Given the description of an element on the screen output the (x, y) to click on. 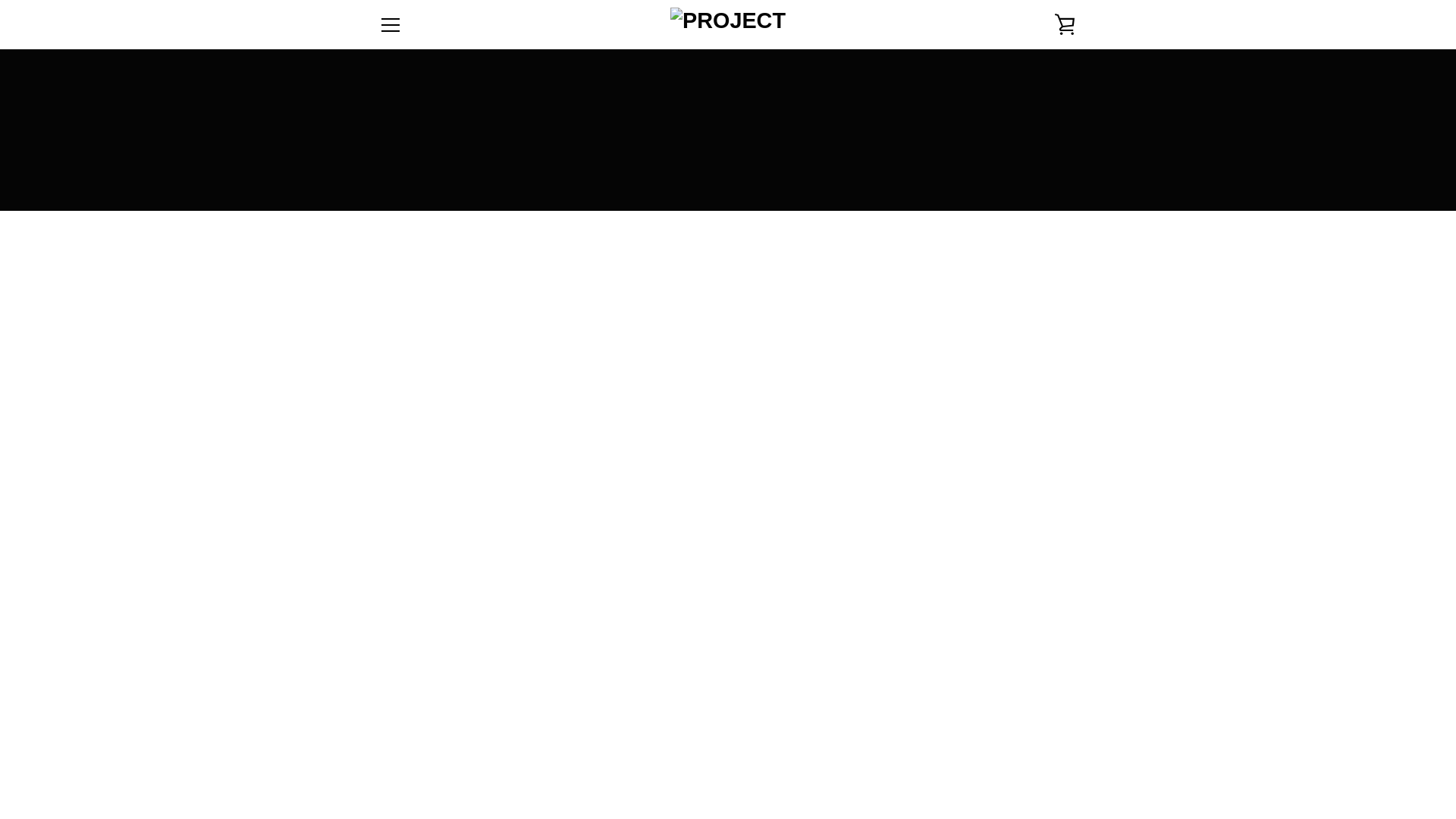
VIEW CART (1065, 24)
MENU (390, 24)
